Given the description of an element on the screen output the (x, y) to click on. 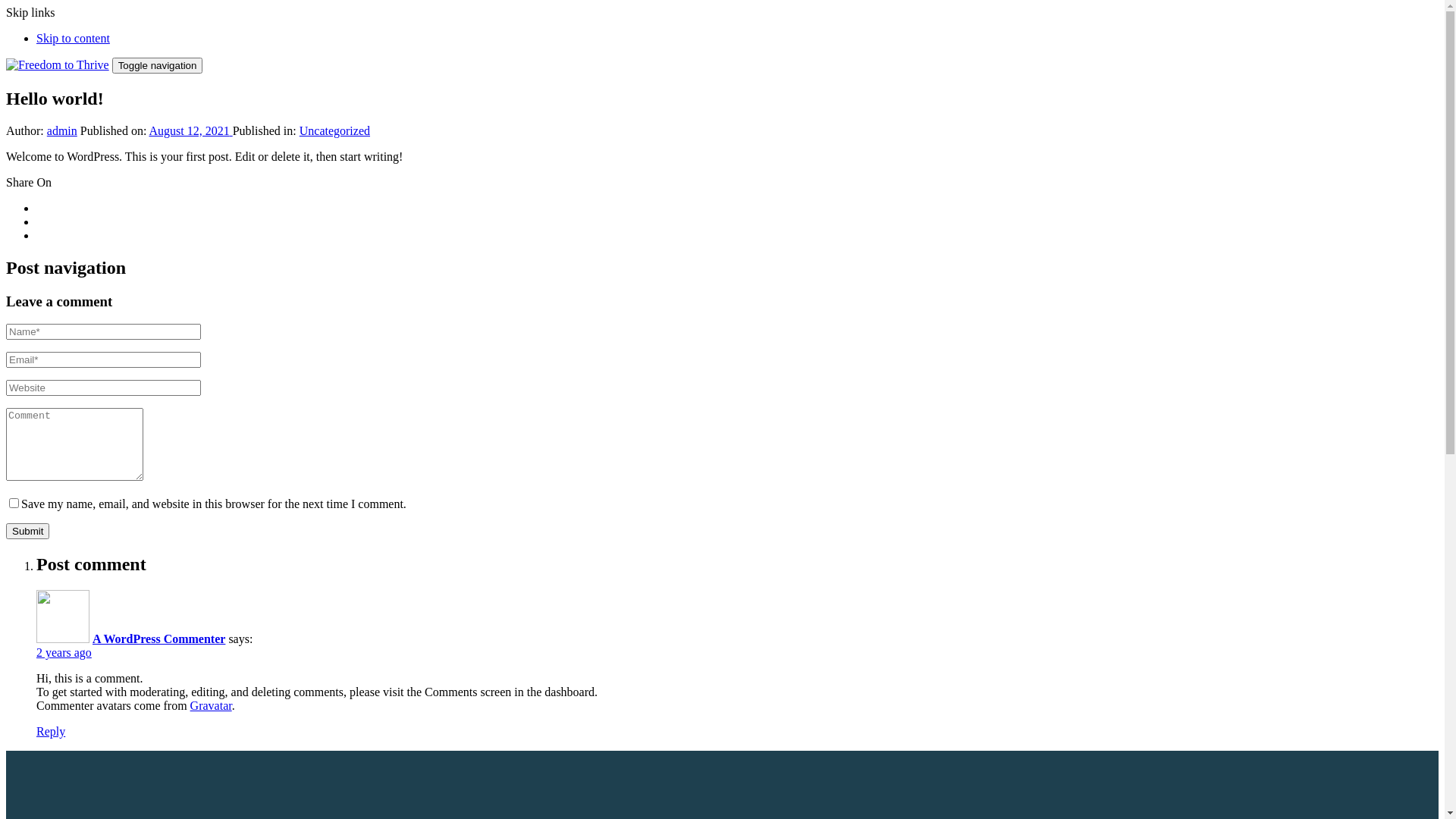
2 years ago Element type: text (63, 652)
Submit Element type: text (27, 531)
Reply Element type: text (50, 730)
Skip to content Element type: text (72, 37)
Toggle navigation Element type: text (157, 65)
Gravatar Element type: text (211, 705)
Uncategorized Element type: text (334, 130)
admin Element type: text (62, 130)
A WordPress Commenter Element type: text (158, 638)
August 12, 2021 Element type: text (190, 130)
